Given the description of an element on the screen output the (x, y) to click on. 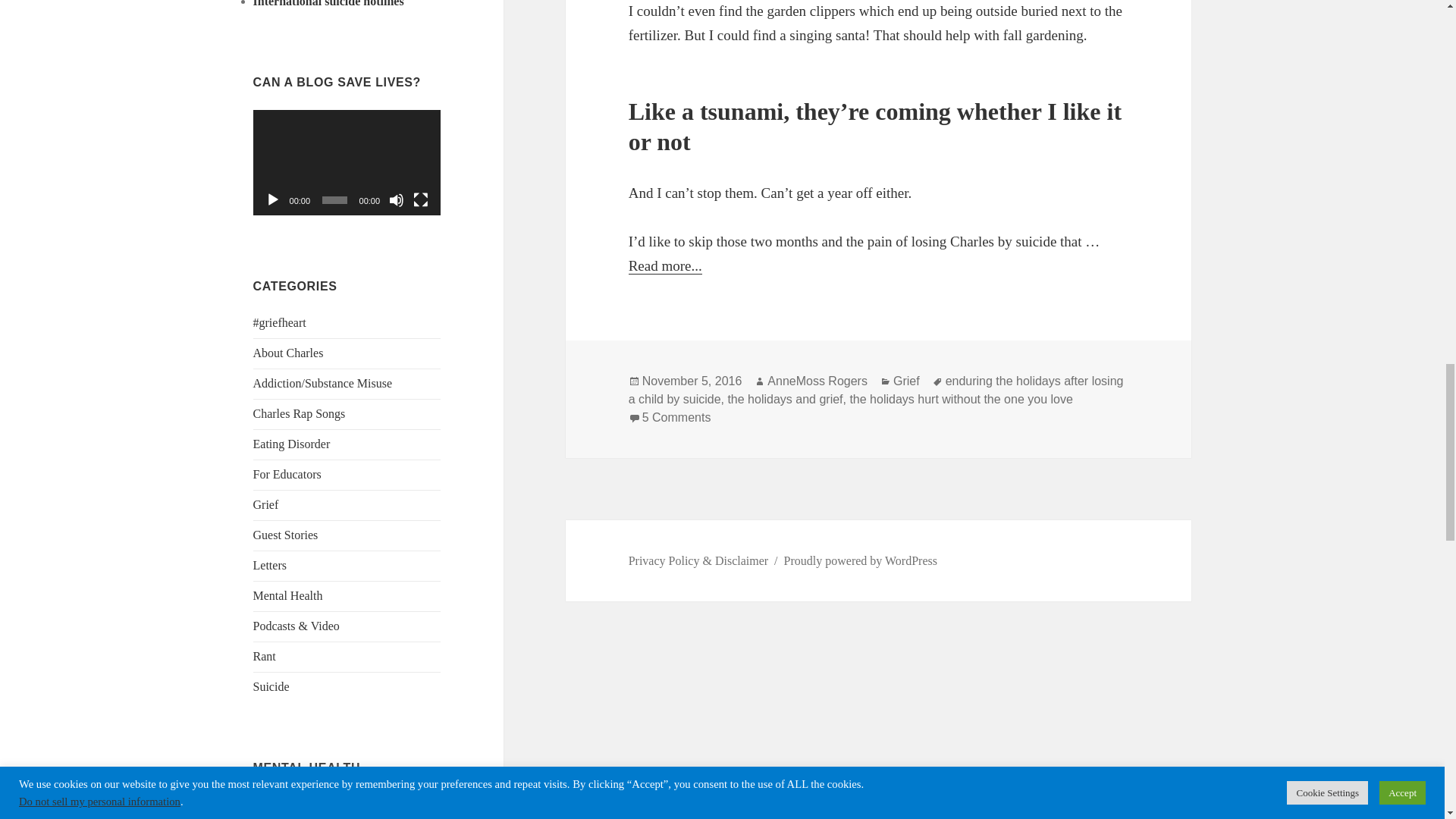
International suicide hotlines (328, 3)
Fullscreen (420, 200)
Mute (396, 200)
Play (272, 200)
